Given the description of an element on the screen output the (x, y) to click on. 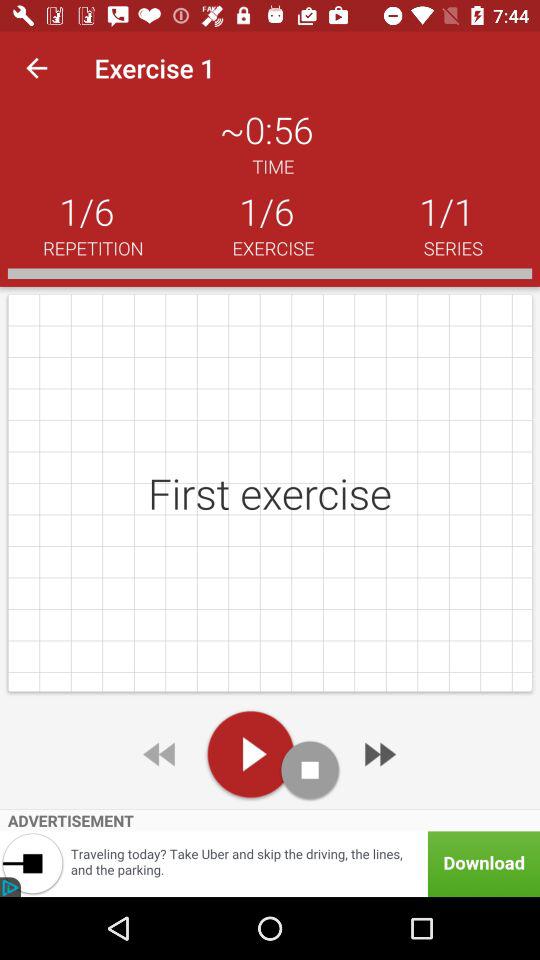
download ap (270, 864)
